Given the description of an element on the screen output the (x, y) to click on. 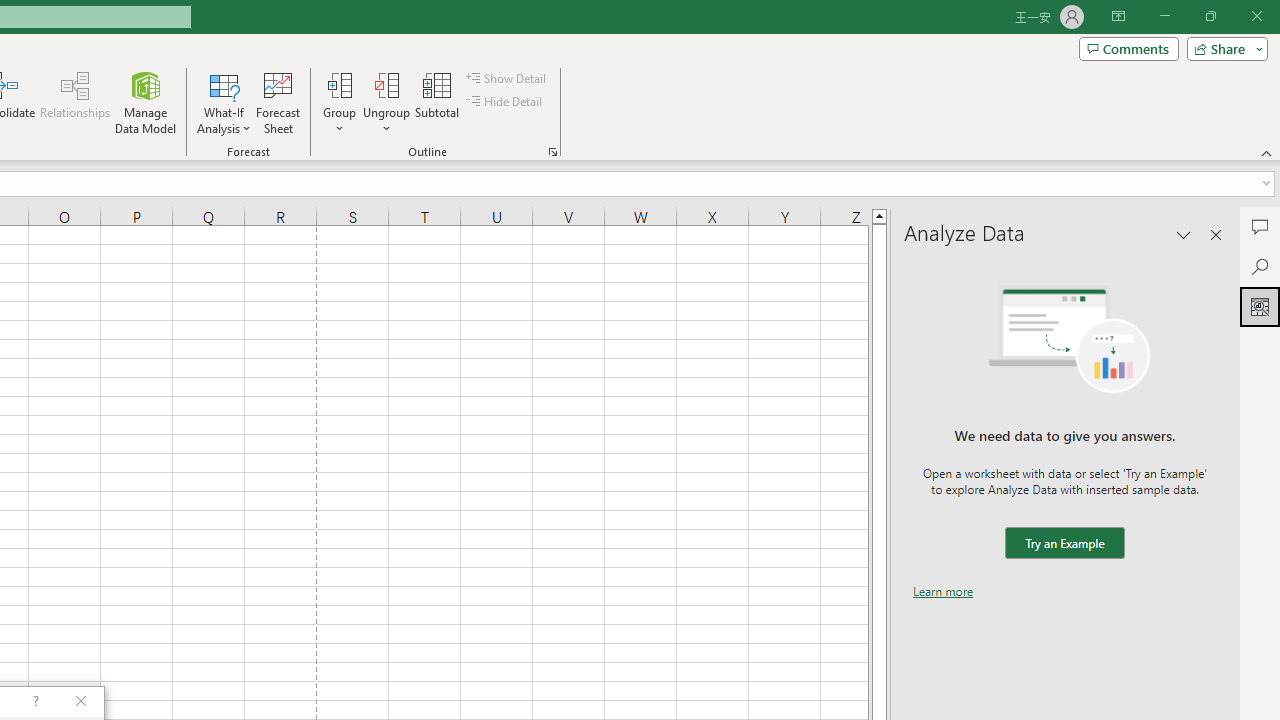
Ungroup... (386, 84)
Relationships (75, 102)
Manage Data Model (145, 102)
Close pane (1215, 234)
Search (1260, 266)
Group... (339, 102)
Analyze Data (1260, 306)
Collapse the Ribbon (1267, 152)
Restore Down (1210, 16)
Share (1223, 48)
Comments (1128, 48)
Task Pane Options (1183, 234)
Hide Detail (505, 101)
Close (1256, 16)
